Given the description of an element on the screen output the (x, y) to click on. 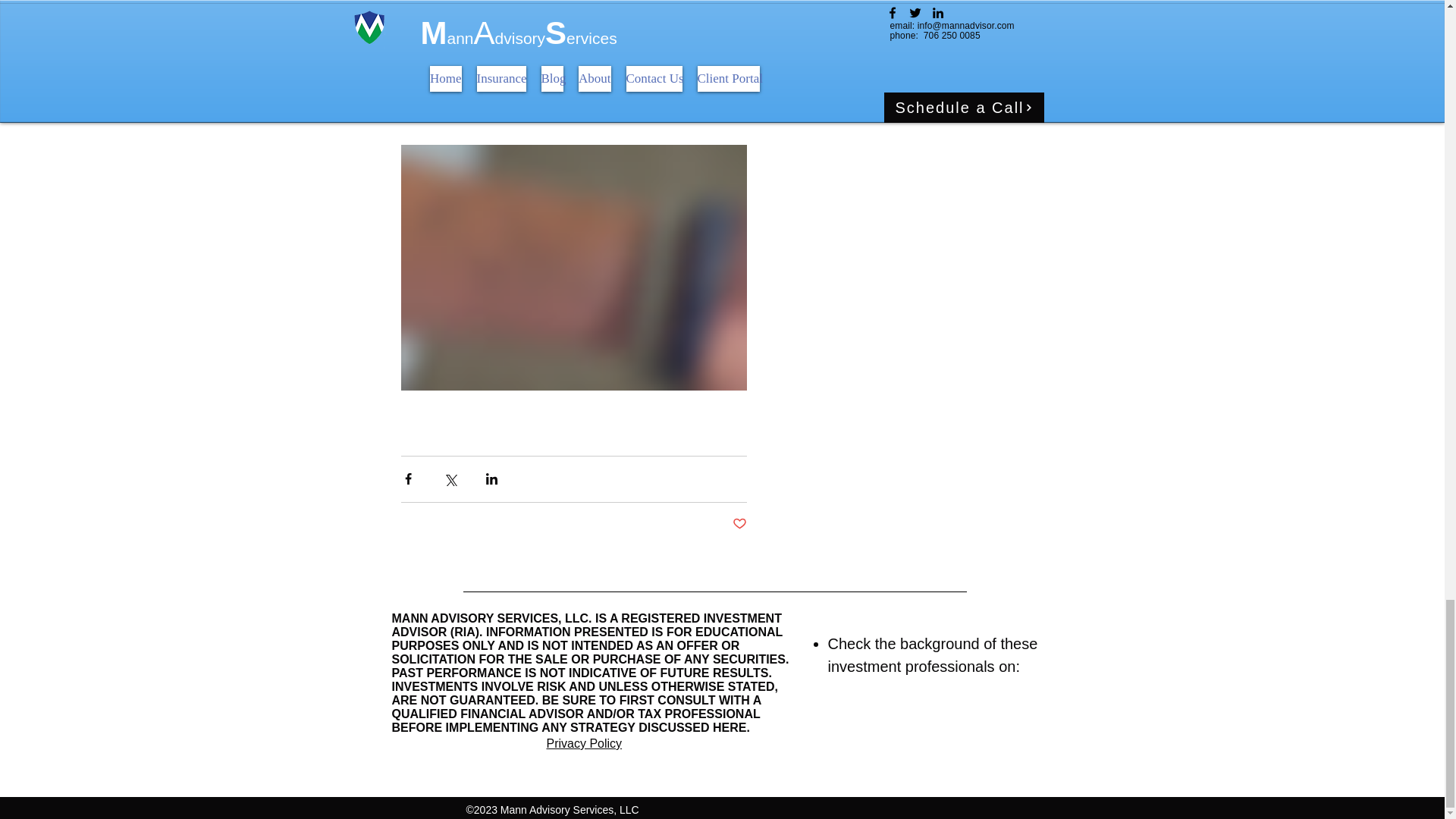
Post not marked as liked (739, 524)
Privacy Policy (583, 743)
